Given the description of an element on the screen output the (x, y) to click on. 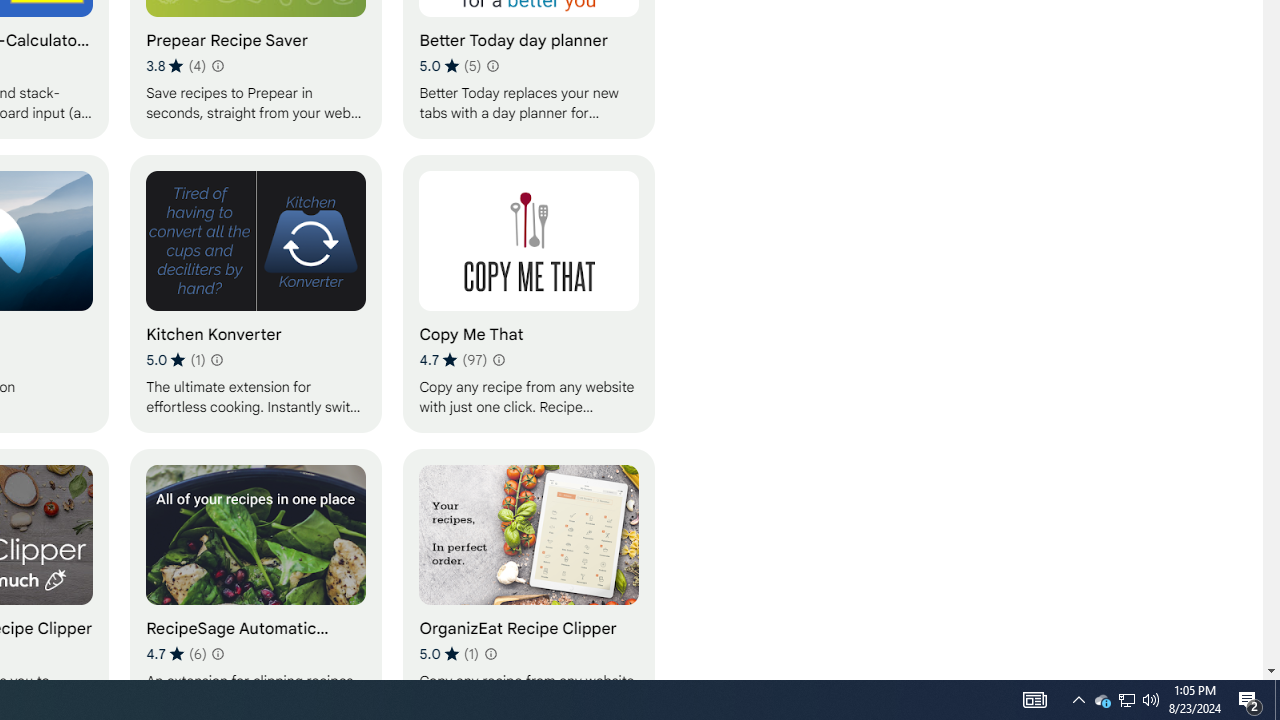
Copy Me That (529, 293)
Learn more about results and reviews "Copy Me That" (498, 359)
Kitchen Konverter (256, 293)
Learn more about results and reviews "Kitchen Konverter" (216, 359)
Average rating 5 out of 5 stars. 1 rating. (448, 653)
Average rating 3.8 out of 5 stars. 4 ratings. (176, 66)
Average rating 4.7 out of 5 stars. 97 ratings. (452, 359)
Learn more about results and reviews "Prepear Recipe Saver" (216, 65)
Average rating 4.7 out of 5 stars. 6 ratings. (176, 653)
Average rating 5 out of 5 stars. 5 ratings. (450, 66)
